Given the description of an element on the screen output the (x, y) to click on. 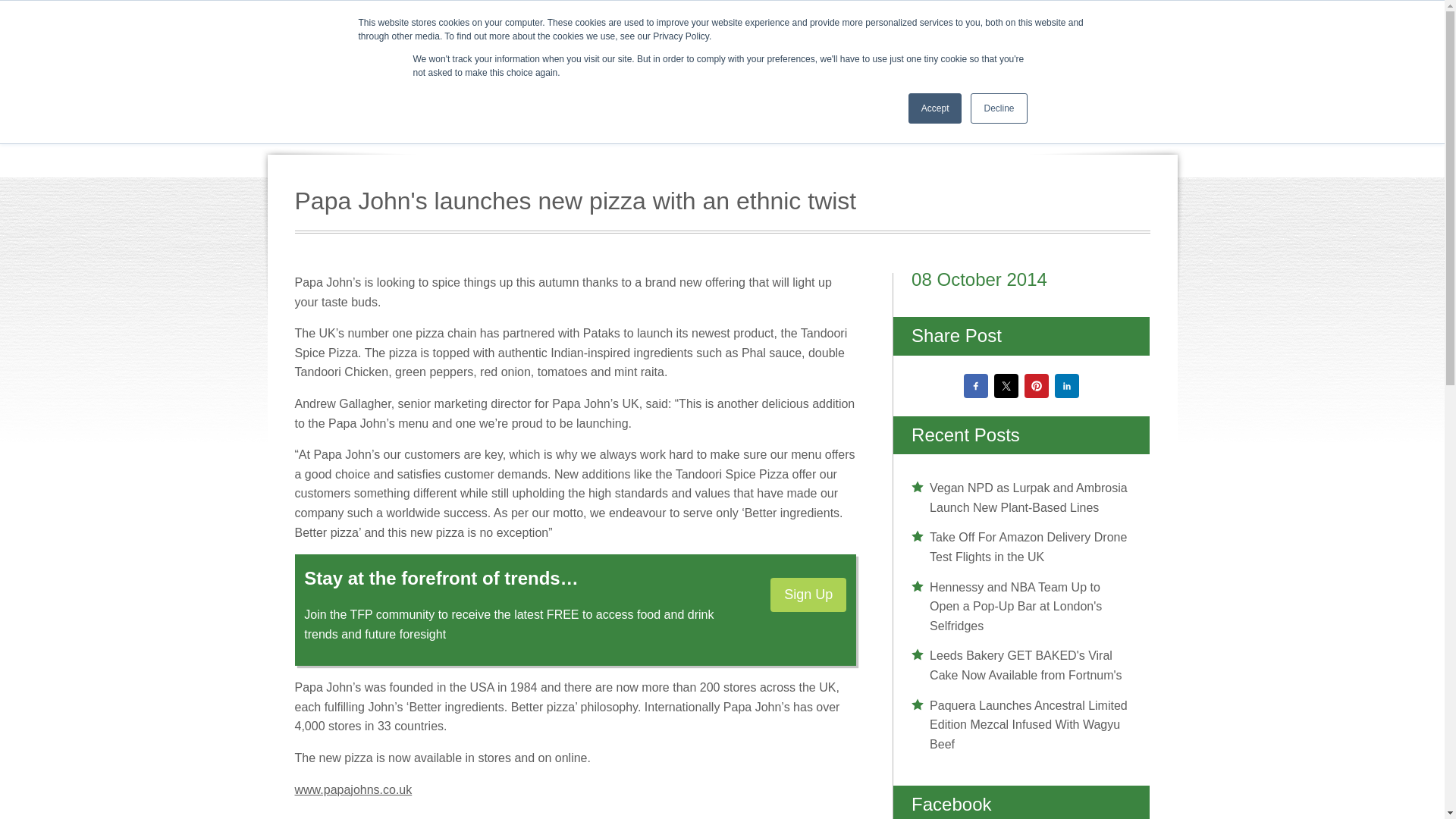
Contact (1144, 25)
Sign Up (807, 594)
Accept (935, 108)
thefoodpeople (468, 83)
Blog (1083, 25)
www.papajohns.co.uk (353, 789)
TFP Foundation (918, 25)
